Given the description of an element on the screen output the (x, y) to click on. 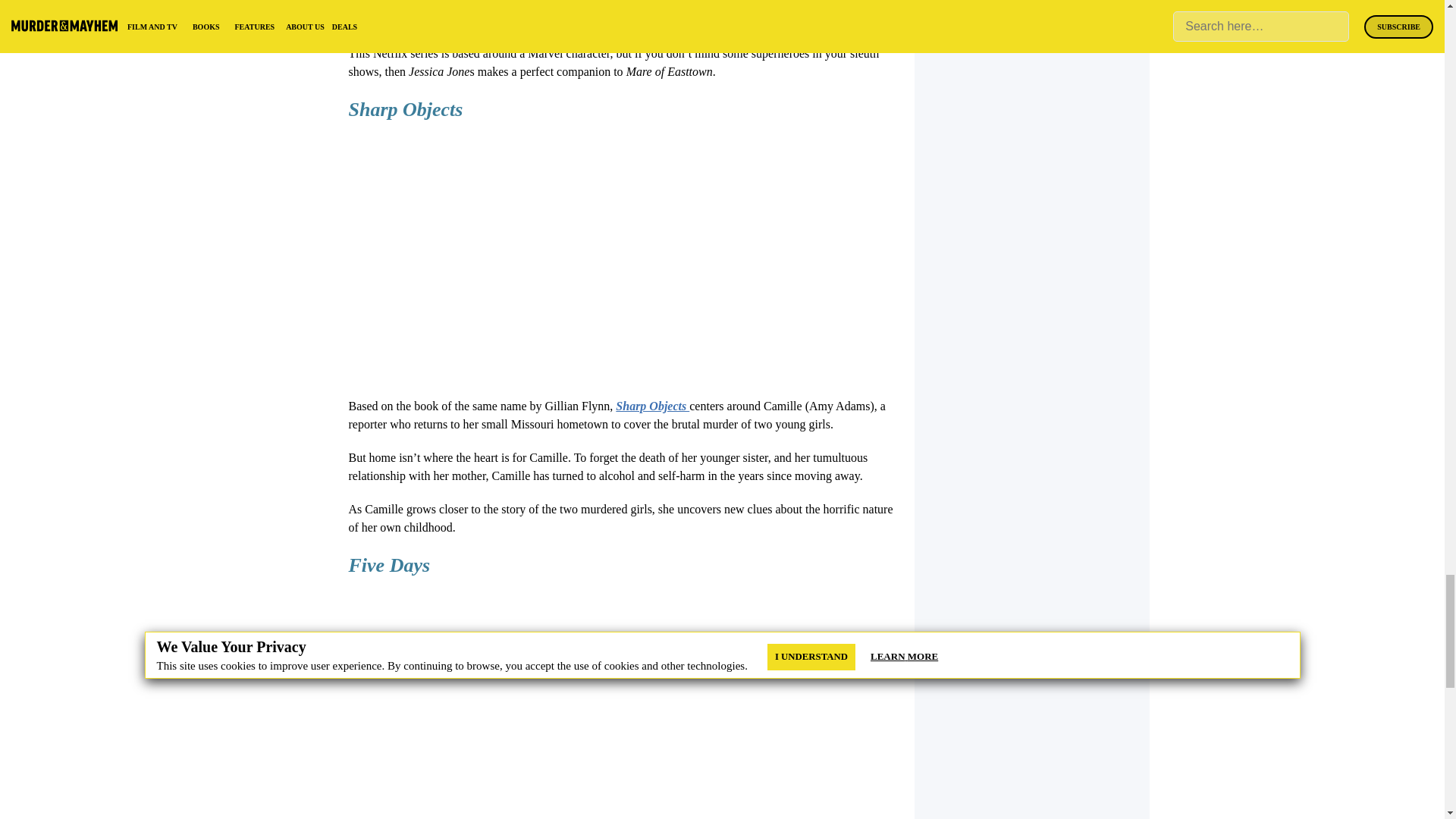
Sharp Objects (651, 405)
YouTube video player (561, 705)
YouTube video player (561, 254)
